Given the description of an element on the screen output the (x, y) to click on. 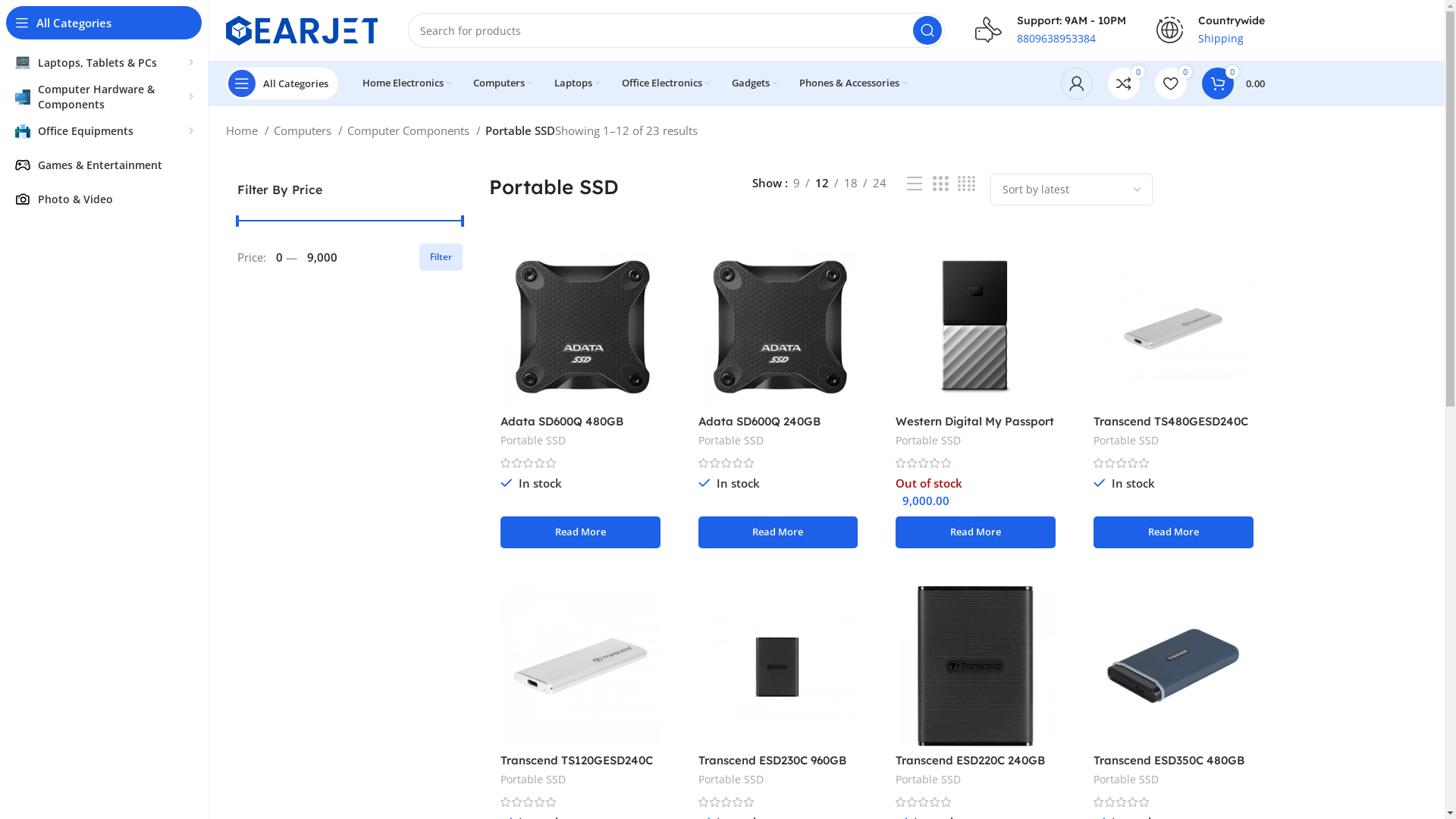
18 Element type: text (850, 182)
Computer Hardware & Components Element type: text (103, 96)
Read More Element type: text (975, 532)
Portable SSD Element type: text (927, 440)
Phones & Accessories Element type: text (853, 83)
Read More Element type: text (778, 532)
12 Element type: text (821, 182)
Search for products Element type: hover (675, 29)
Computers Element type: text (502, 83)
Games & Entertainment Element type: text (103, 164)
My account Element type: hover (1075, 83)
Gadgets Element type: text (753, 83)
Office Electronics Element type: text (665, 83)
Transcend ESD220C 240GB USB 3.1 Portable SSD Element type: text (969, 767)
Portable SSD Element type: text (730, 440)
9 Element type: text (796, 182)
Transcend TS120GESD240C 120GB Portable SSD Element type: text (576, 767)
Photo & Video Element type: hover (22, 198)
Smartphones-1 Element type: hover (22, 164)
Transcend ESD350C 480GB Portable SSD Element type: text (1168, 767)
Adata SD600Q 240GB External SSD Element type: text (759, 428)
Read More Element type: text (580, 532)
Portable SSD Element type: text (532, 440)
Home Element type: text (247, 130)
Portable SSD Element type: text (532, 779)
Home Electronics Element type: text (406, 83)
Transcend TS480GESD240C 480GB Portable SSD Element type: text (1170, 428)
Laptops Element type: text (576, 83)
Transcend ESD230C 960GB USB 3.1 Gen-2 Type-C Portable SSD Element type: text (772, 773)
Laptops, Tablets & PCs Element type: text (103, 62)
All Categories Element type: text (281, 83)
0 Element type: text (1122, 83)
8809638953384 Element type: text (1055, 37)
Portable SSD Element type: text (1125, 779)
Computers Element type: text (307, 130)
24 Element type: text (879, 182)
Portable SSD Element type: text (730, 779)
Search Element type: text (927, 29)
Read More Element type: text (1173, 532)
Western Digital My Passport 512GB External SSD Element type: text (974, 428)
Photo & Video Element type: text (103, 199)
0 Element type: text (1169, 83)
Adata SD600Q 480GB External SSD Element type: text (561, 428)
Filter Element type: text (440, 256)
Portable SSD Element type: text (1125, 440)
Portable SSD Element type: text (927, 779)
Computer Components Element type: text (413, 130)
Office Equipments Element type: text (103, 130)
